Given the description of an element on the screen output the (x, y) to click on. 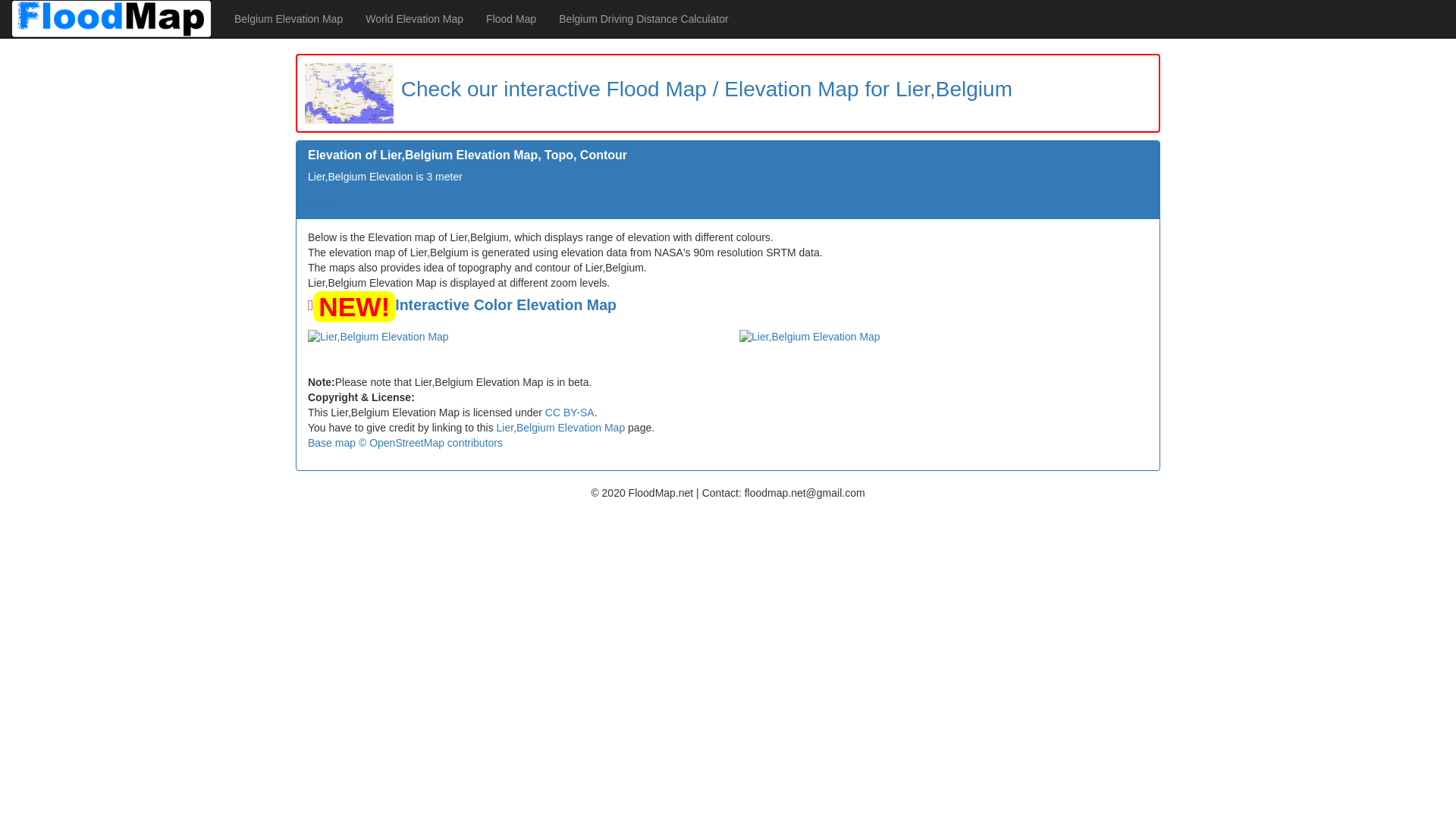
Interactive Color Elevation Map (504, 304)
CC BY-SA (569, 412)
Lier,Belgium Elevation Map (561, 427)
Belgium Elevation Map (287, 18)
Belgium Driving Distance Calculator (643, 18)
Tweet (321, 202)
World Elevation Map (413, 18)
Flood Map (510, 18)
